Given the description of an element on the screen output the (x, y) to click on. 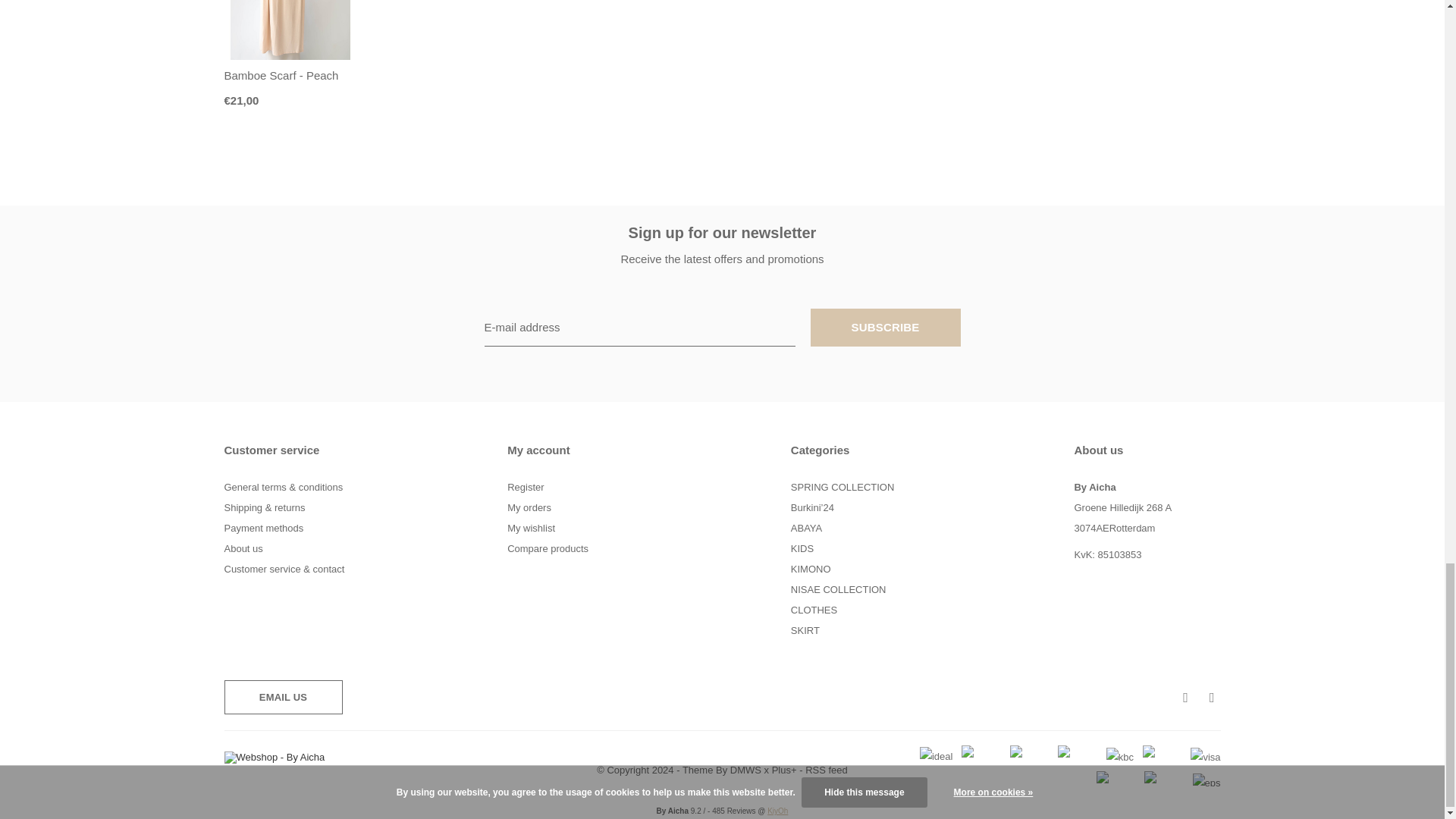
My wishlist (530, 527)
Register (524, 487)
My orders (528, 507)
